Given the description of an element on the screen output the (x, y) to click on. 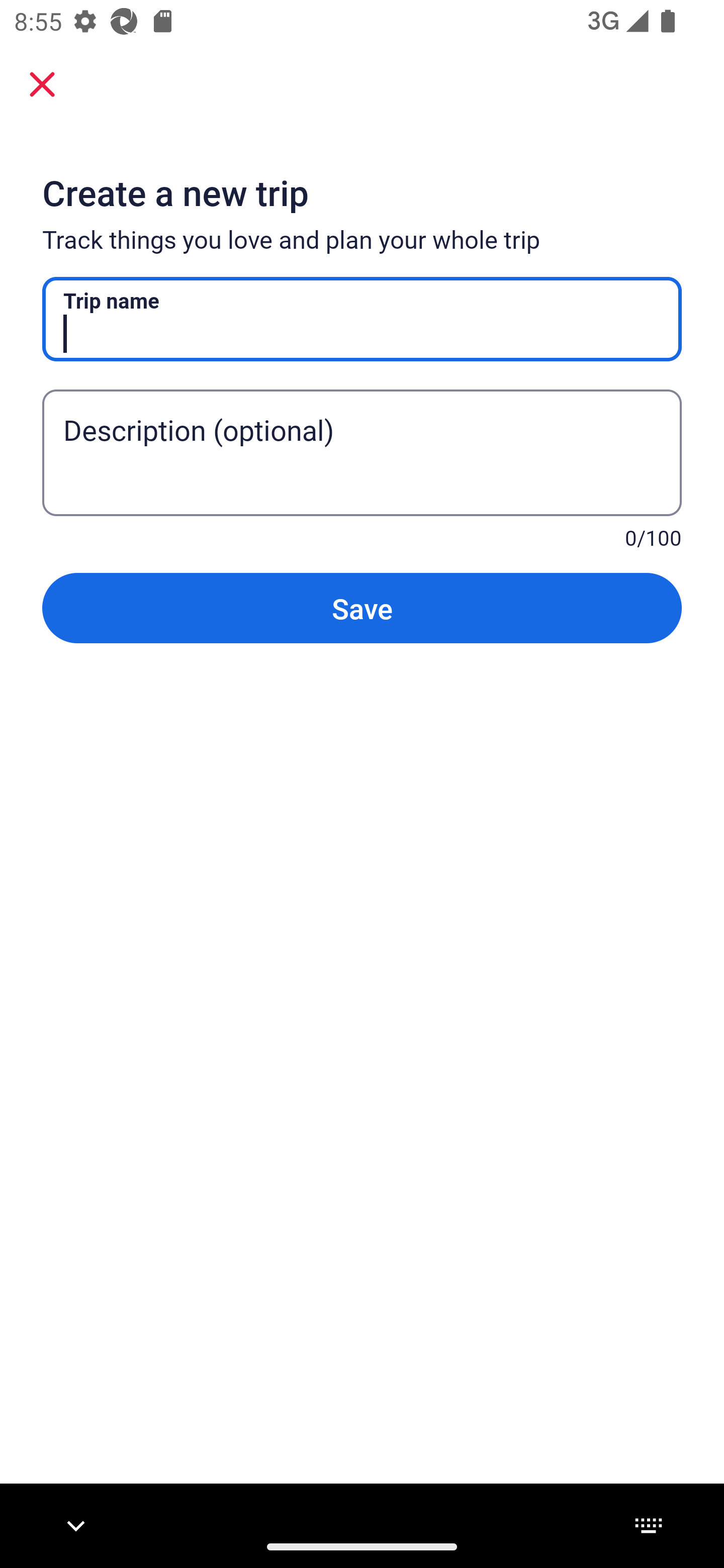
Close (41, 83)
Trip name (361, 318)
Save Button Save (361, 607)
